Given the description of an element on the screen output the (x, y) to click on. 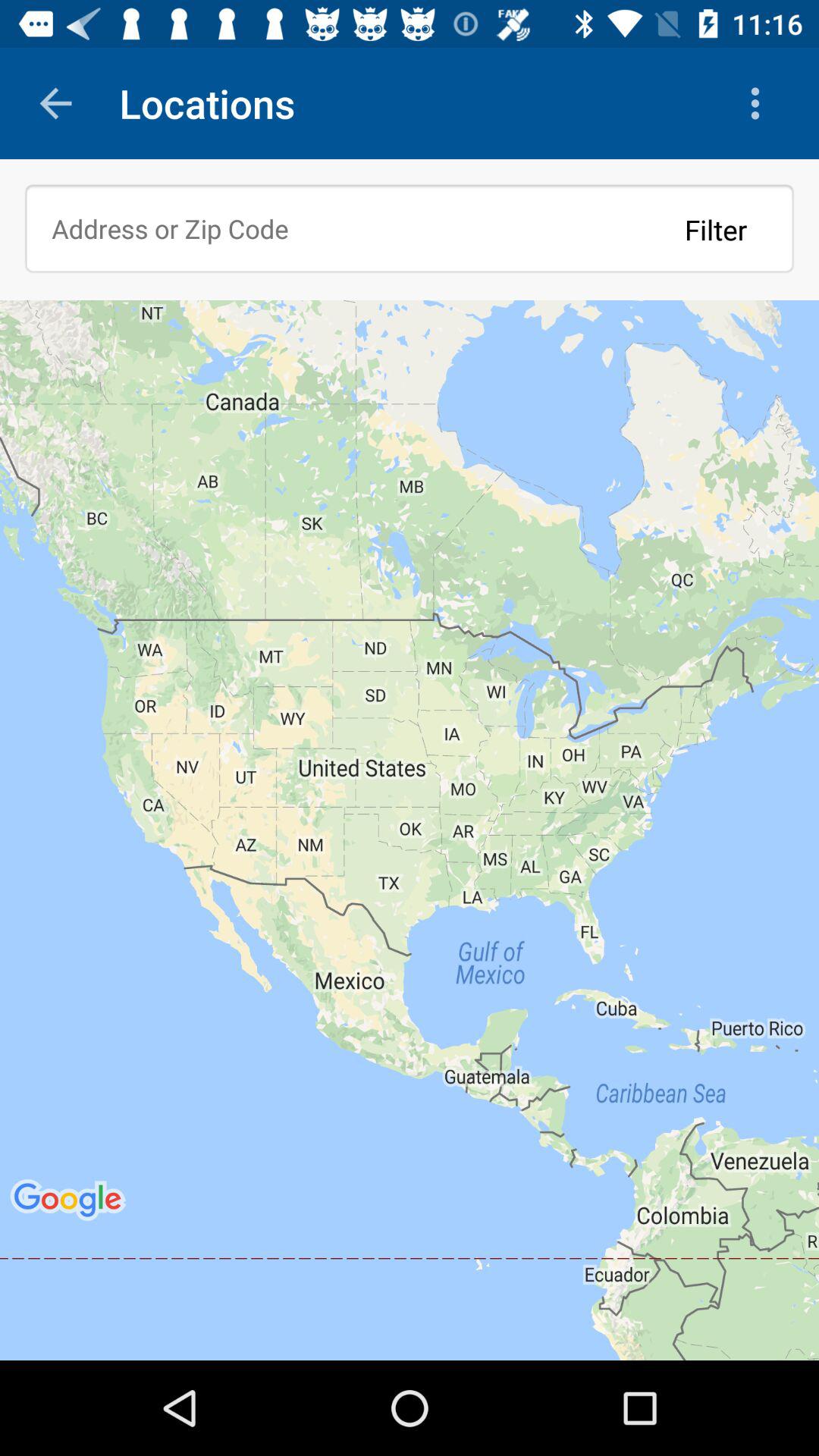
swipe to the filter icon (715, 229)
